Given the description of an element on the screen output the (x, y) to click on. 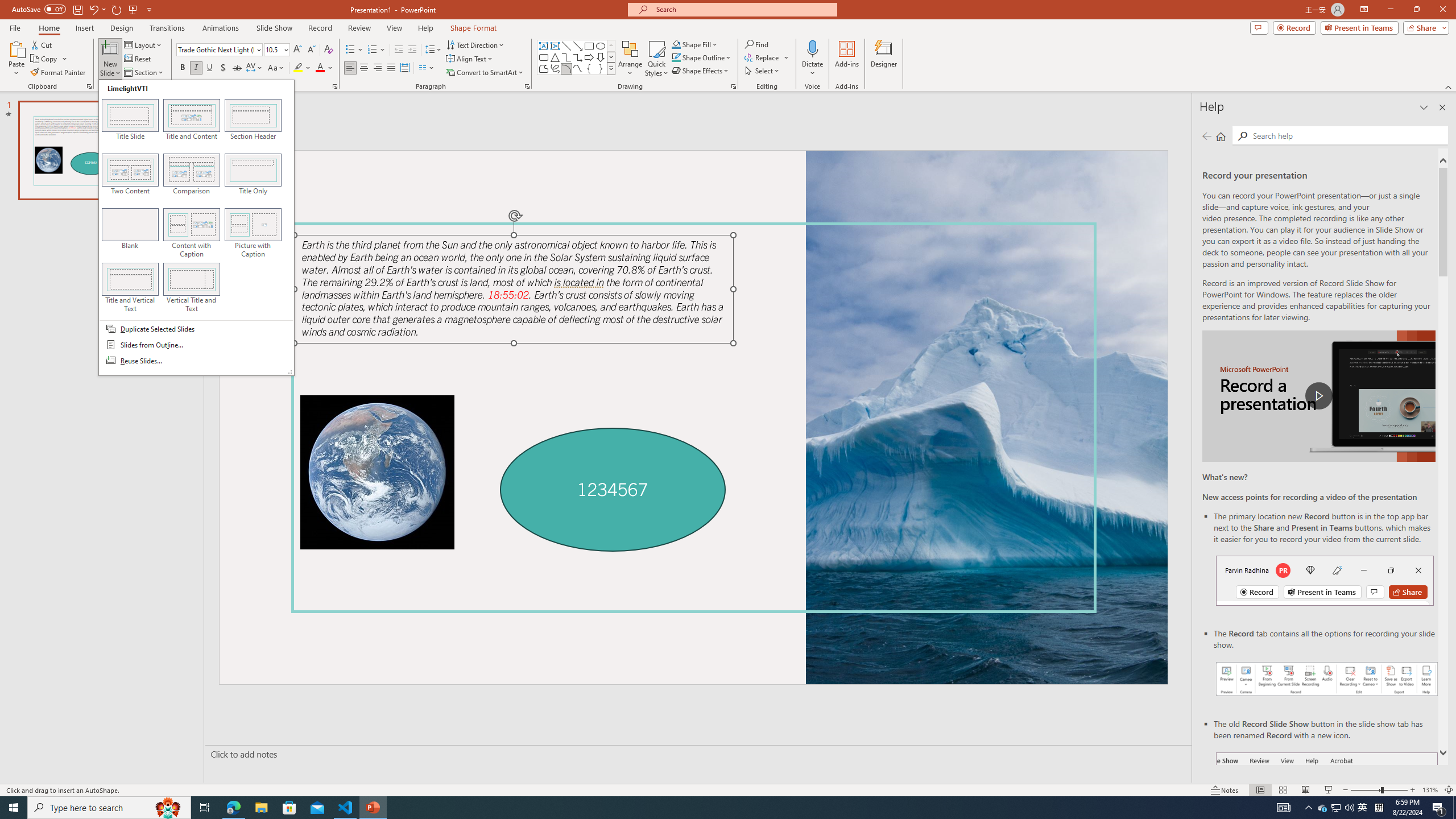
play Record a Presentation (1318, 395)
